Given the description of an element on the screen output the (x, y) to click on. 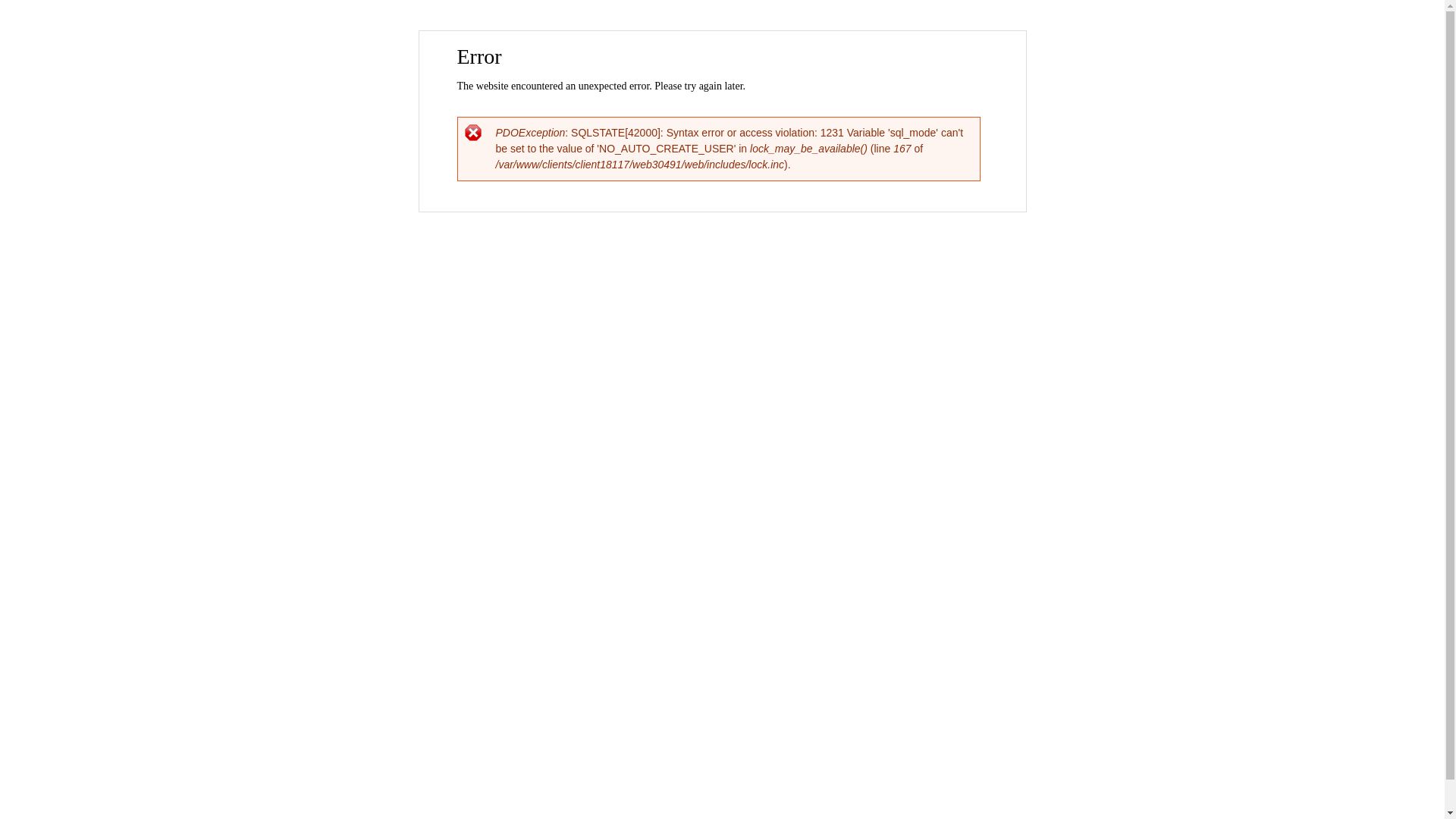
Skip to main content Element type: text (690, 31)
